Given the description of an element on the screen output the (x, y) to click on. 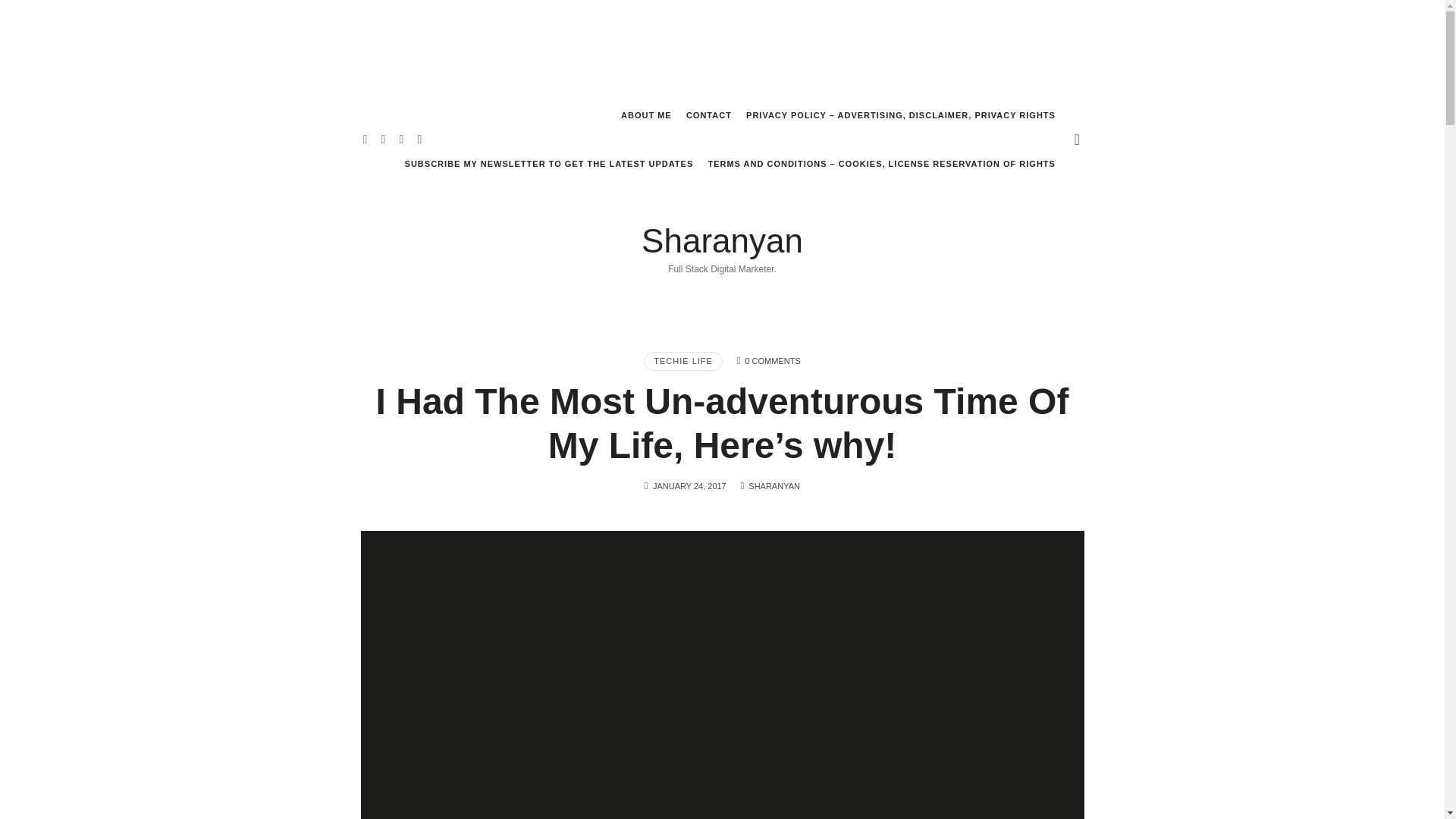
JANUARY 24, 2017 (689, 485)
ABOUT ME (646, 114)
SUBSCRIBE MY NEWSLETTER TO GET THE LATEST UPDATES (549, 163)
CONTACT (708, 114)
Sharanyan (722, 241)
0 COMMENTS (771, 360)
SHARANYAN (773, 485)
TECHIE LIFE (682, 361)
